Given the description of an element on the screen output the (x, y) to click on. 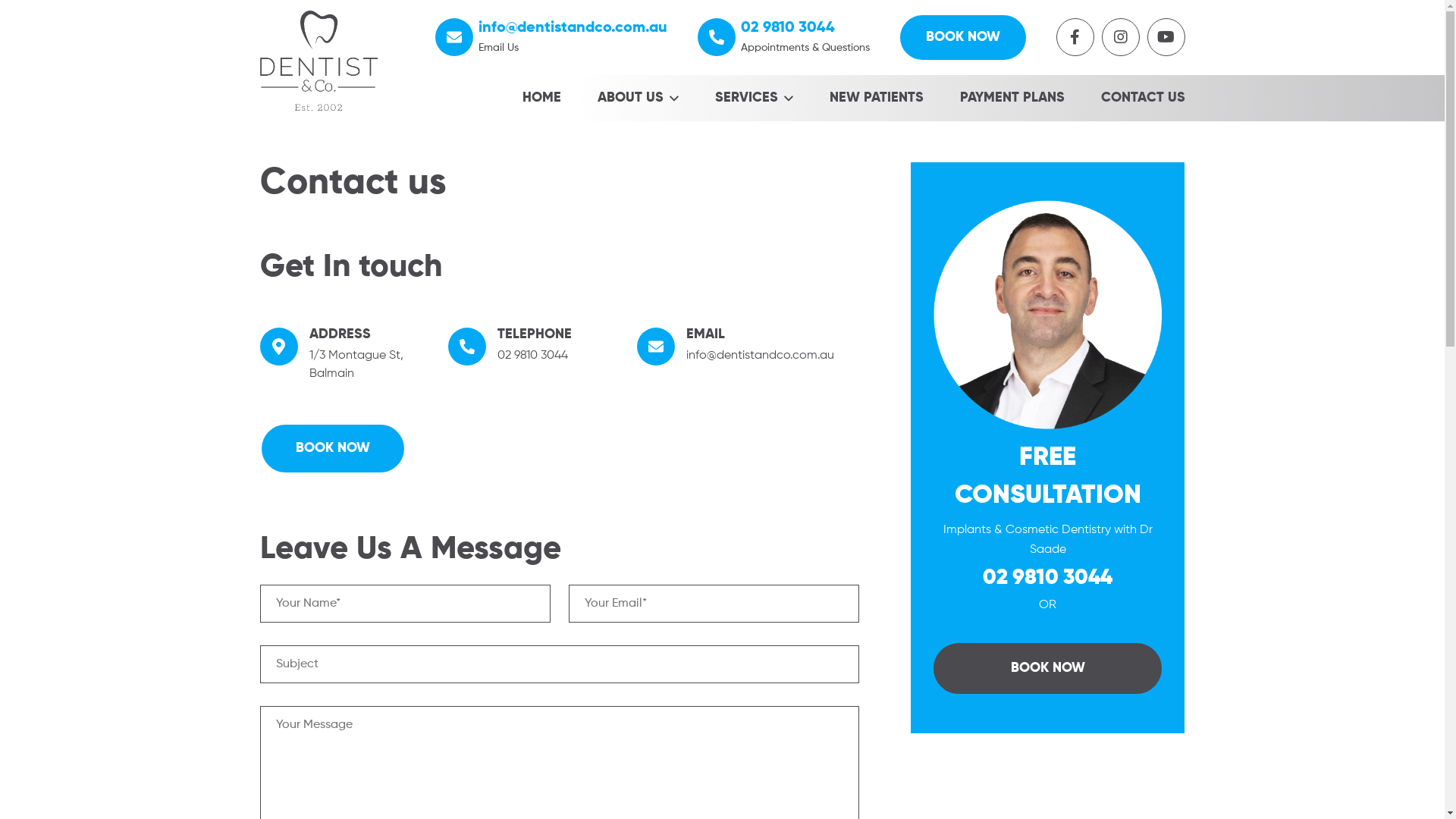
SERVICES Element type: text (753, 97)
info@dentistandco.com.au Element type: text (571, 27)
BOOK NOW Element type: text (962, 37)
Dr. Saade Element type: hover (1047, 314)
BOOK NOW Element type: text (1047, 668)
02 9810 3044 Element type: text (787, 27)
PAYMENT PLANS Element type: text (1012, 97)
logo Element type: hover (317, 60)
CONTACT US Element type: text (1143, 97)
ABOUT US Element type: text (637, 97)
BOOK NOW Element type: text (331, 448)
NEW PATIENTS Element type: text (876, 97)
02 9810 3044 Element type: text (1047, 577)
HOME Element type: text (540, 97)
